Given the description of an element on the screen output the (x, y) to click on. 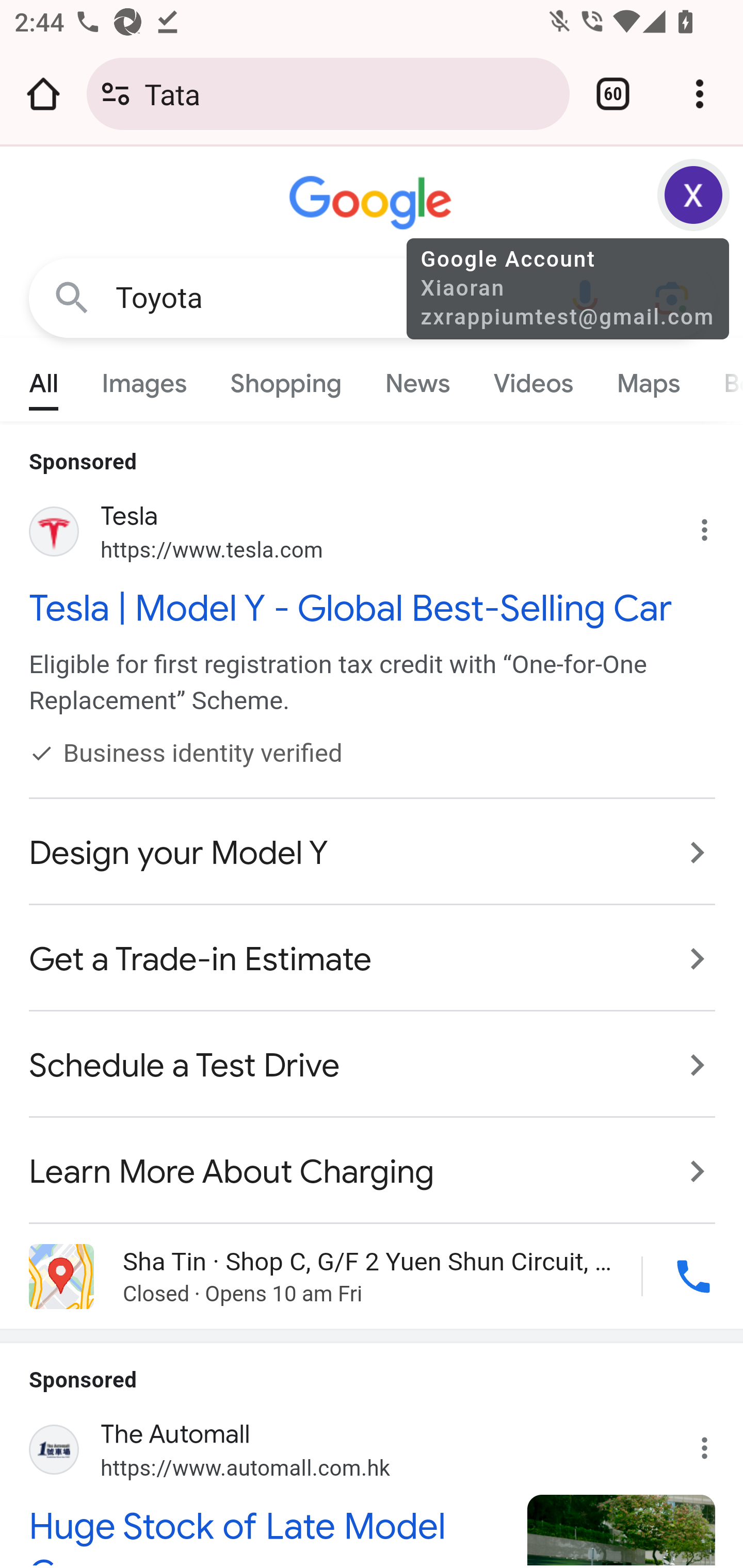
Open the home page (43, 93)
Connection is secure (115, 93)
Switch or close tabs (612, 93)
Customize and control Google Chrome (699, 93)
Tata (349, 92)
Google (372, 203)
Google Account: Xiaoran (zxrappiumtest@gmail.com) (694, 195)
Google Search (71, 296)
Toyota (328, 297)
Images (144, 378)
Shopping (285, 378)
News (417, 378)
Videos (533, 378)
Maps (647, 378)
Why this ad? (714, 525)
Tesla | Model Y - Global Best-Selling Car (372, 608)
Design your Model Y (372, 852)
Get a Trade-in Estimate (372, 959)
Schedule a Test Drive (372, 1065)
Learn More About Charging (372, 1161)
Why this ad? (714, 1441)
Huge Stock of Late Model Cars (266, 1534)
